Given the description of an element on the screen output the (x, y) to click on. 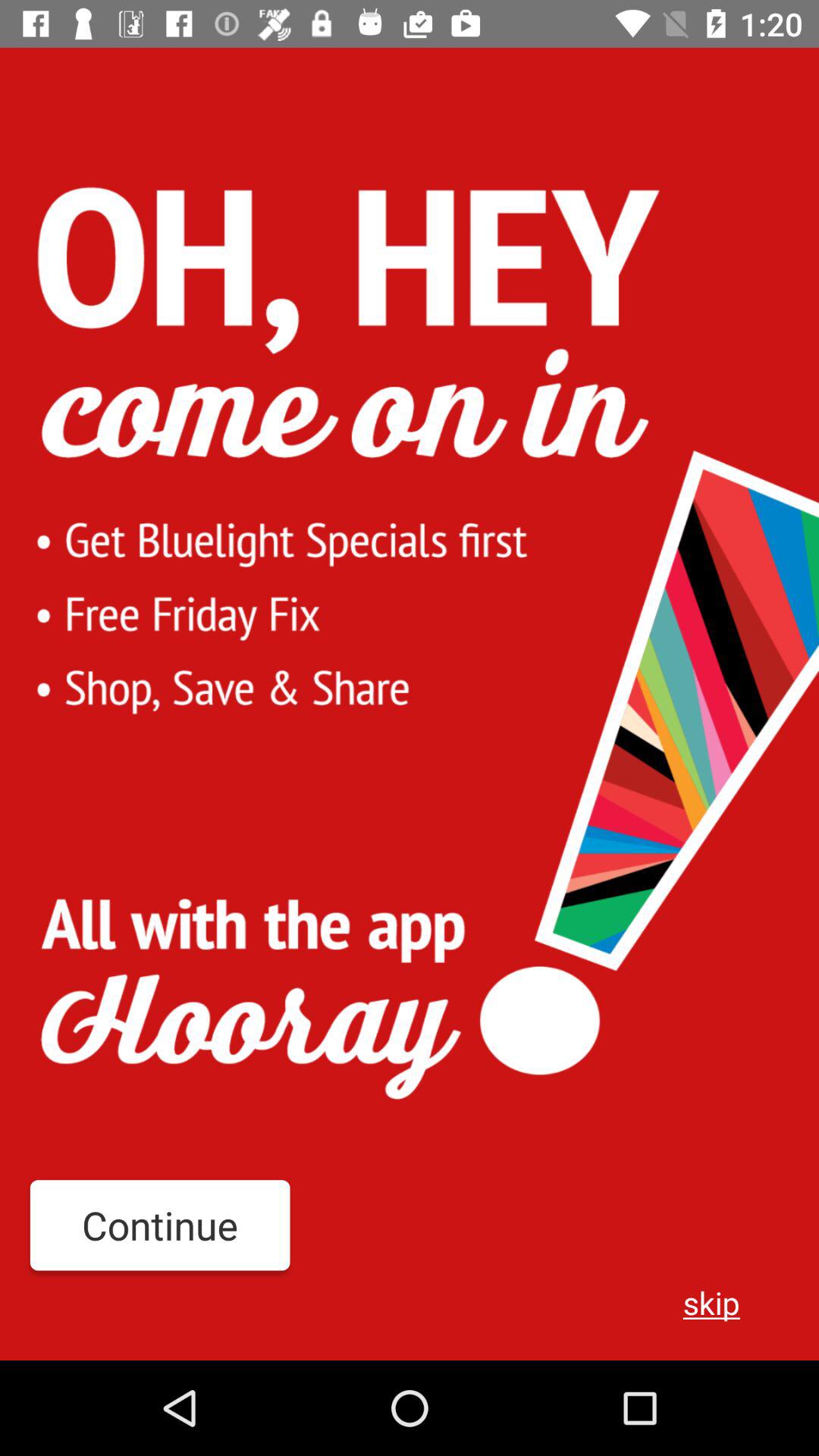
swipe to the continue (160, 1225)
